Given the description of an element on the screen output the (x, y) to click on. 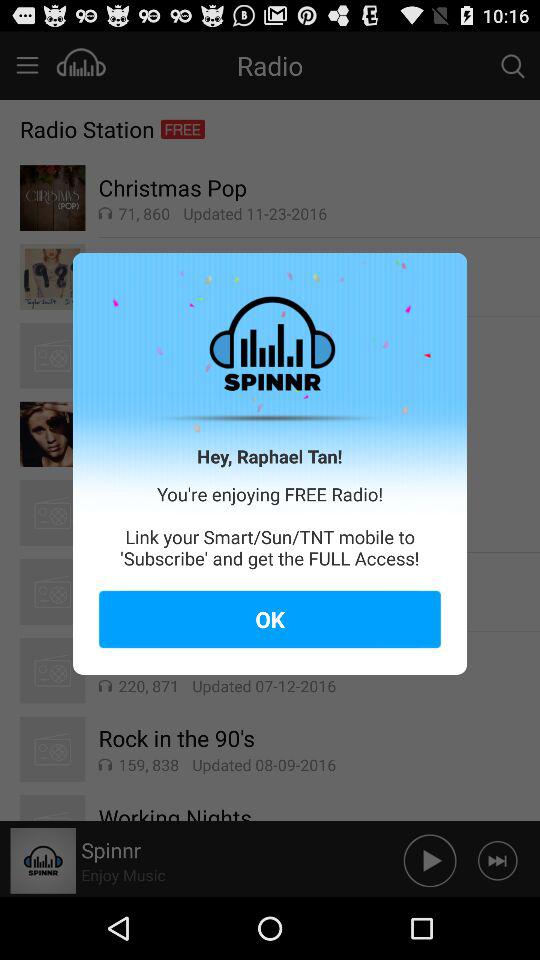
swipe until ok item (269, 619)
